Given the description of an element on the screen output the (x, y) to click on. 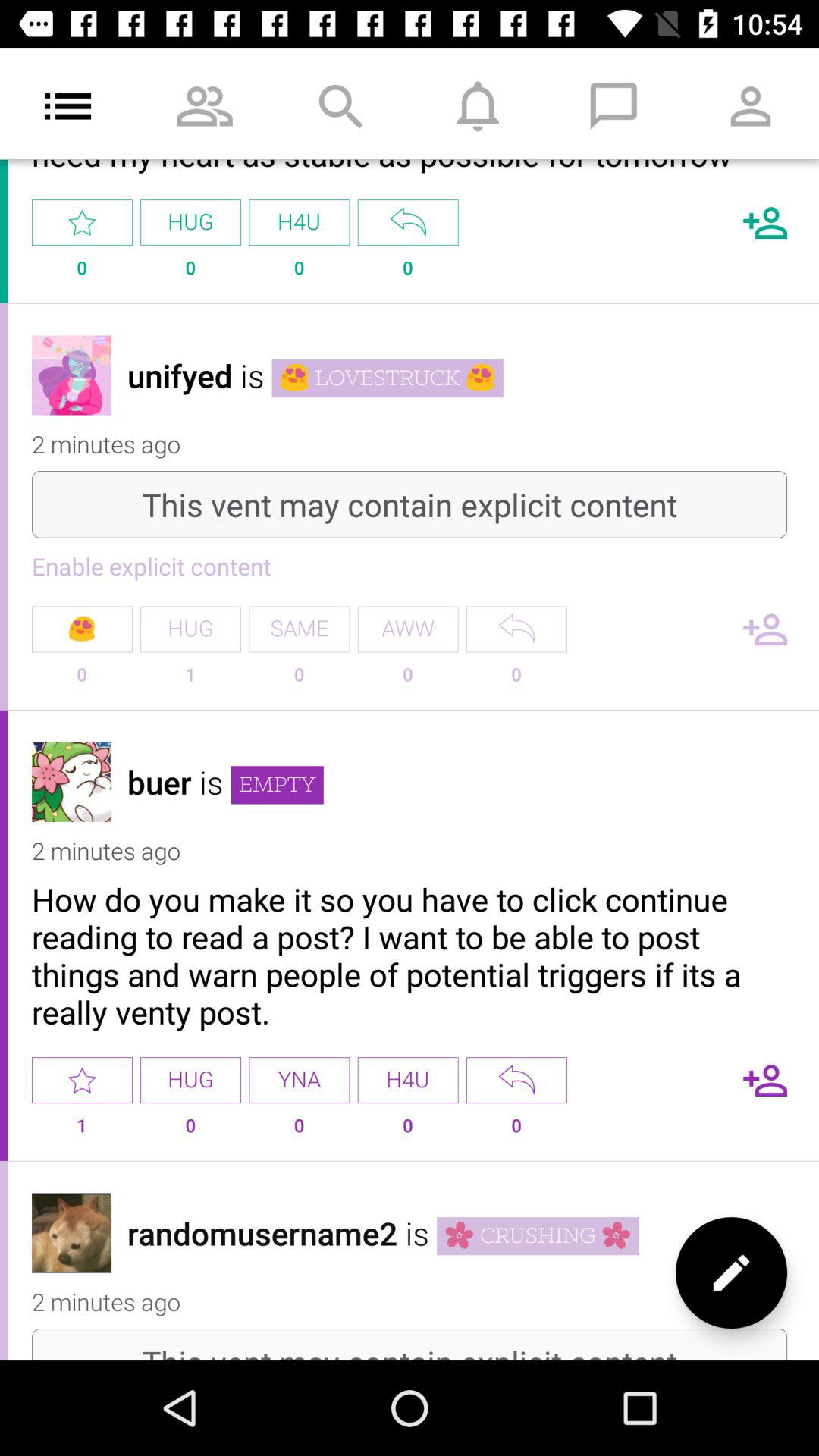
select the item above the 2 minutes ago (537, 1236)
